Given the description of an element on the screen output the (x, y) to click on. 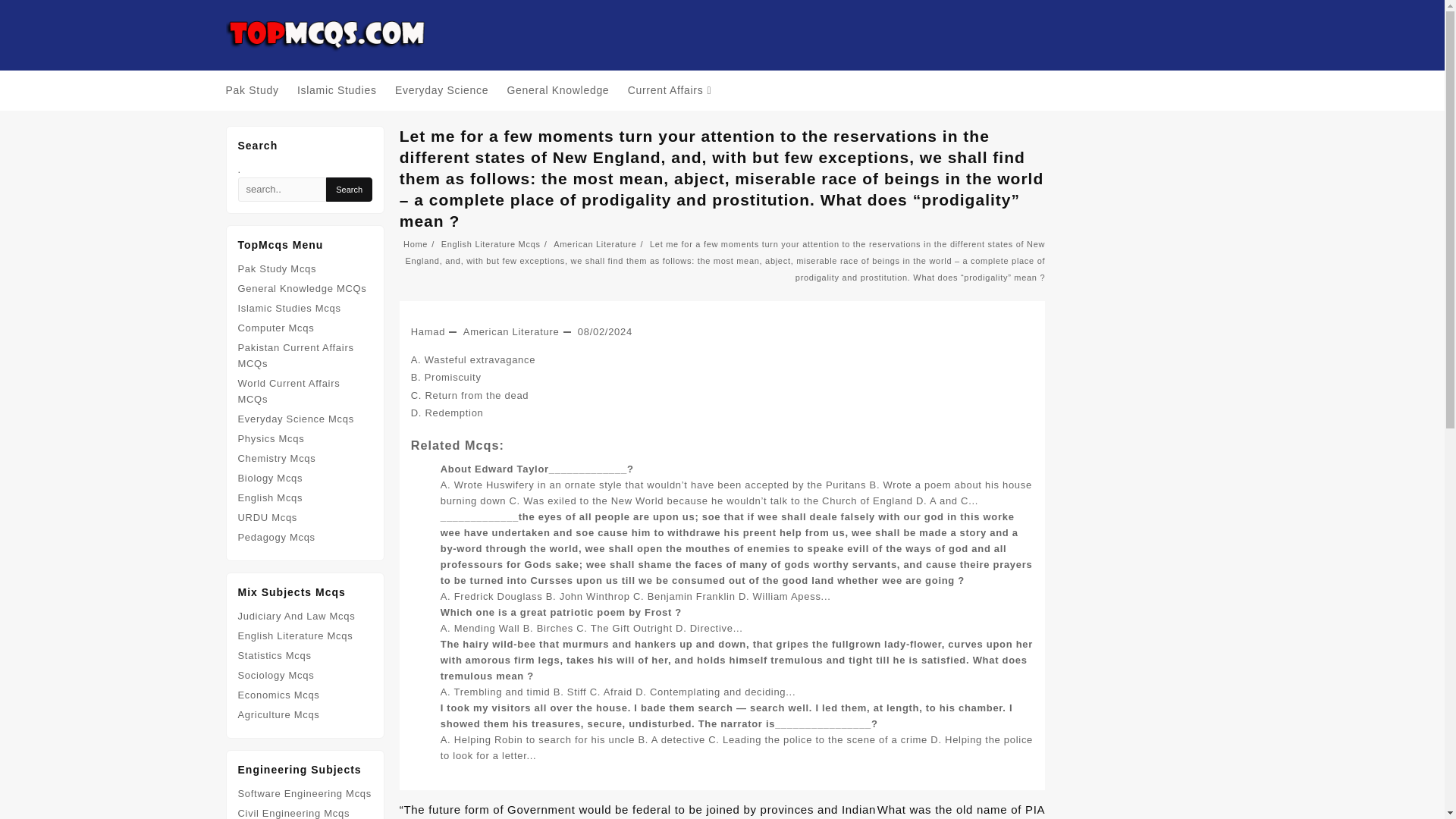
Everyday Science Mcqs (295, 419)
Computer Mcqs (276, 327)
Islamic Studies (344, 90)
Pak Study (259, 90)
Sociology Mcqs (276, 674)
Pakistan Current Affairs MCQs (295, 355)
Current Affairs (676, 90)
General Knowledge MCQs (302, 288)
Economics Mcqs (279, 695)
English Literature Mcqs (295, 635)
